Given the description of an element on the screen output the (x, y) to click on. 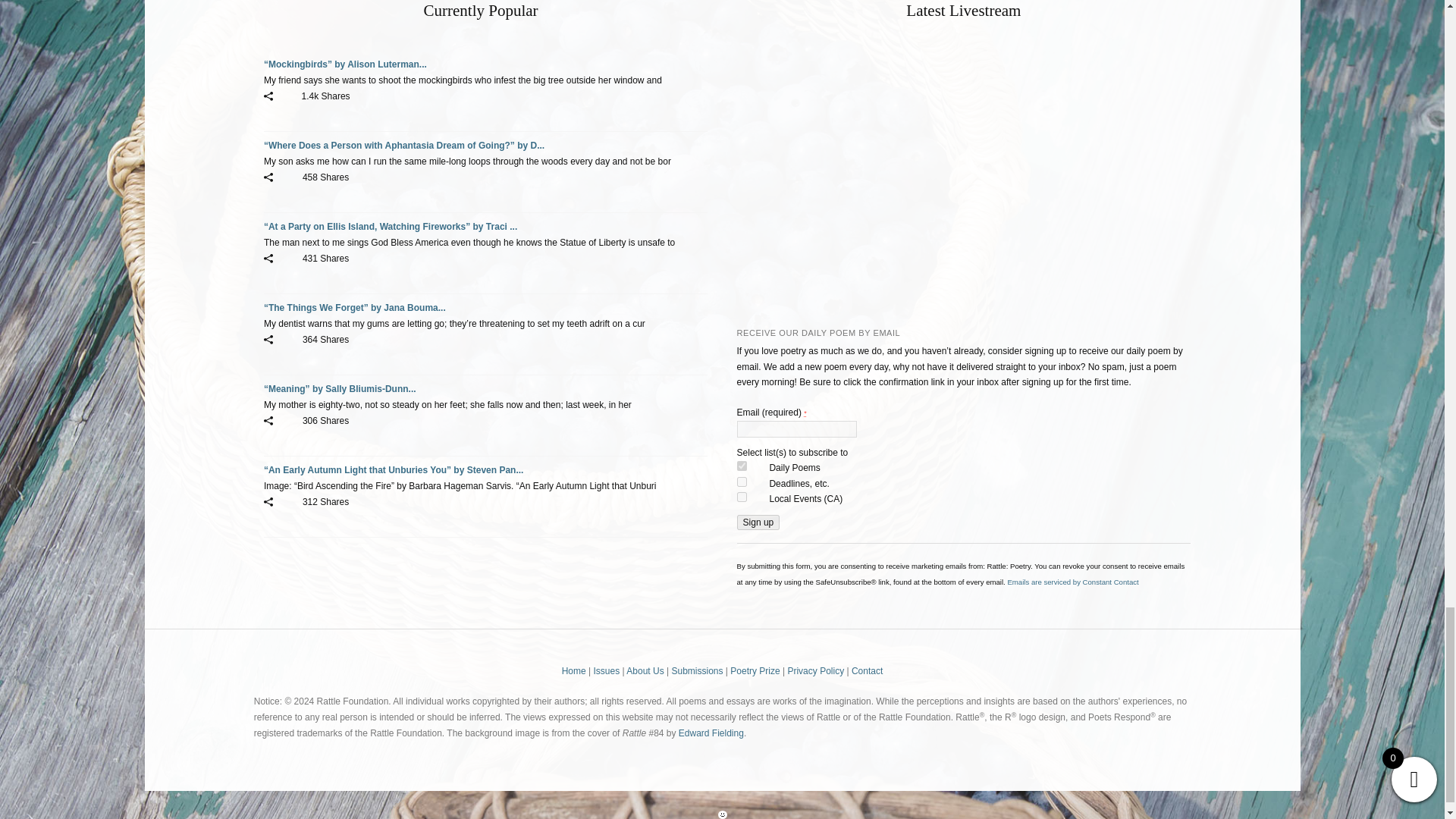
4e5a6cbe-05f2-11ec-b6e9-fa163e37a129 (741, 497)
986a7eba-a7a1-11ec-8f32-fa163e732e35 (741, 481)
Sign up (758, 522)
576b39e4-c328-11eb-9470-fa163efab12a (741, 465)
